Given the description of an element on the screen output the (x, y) to click on. 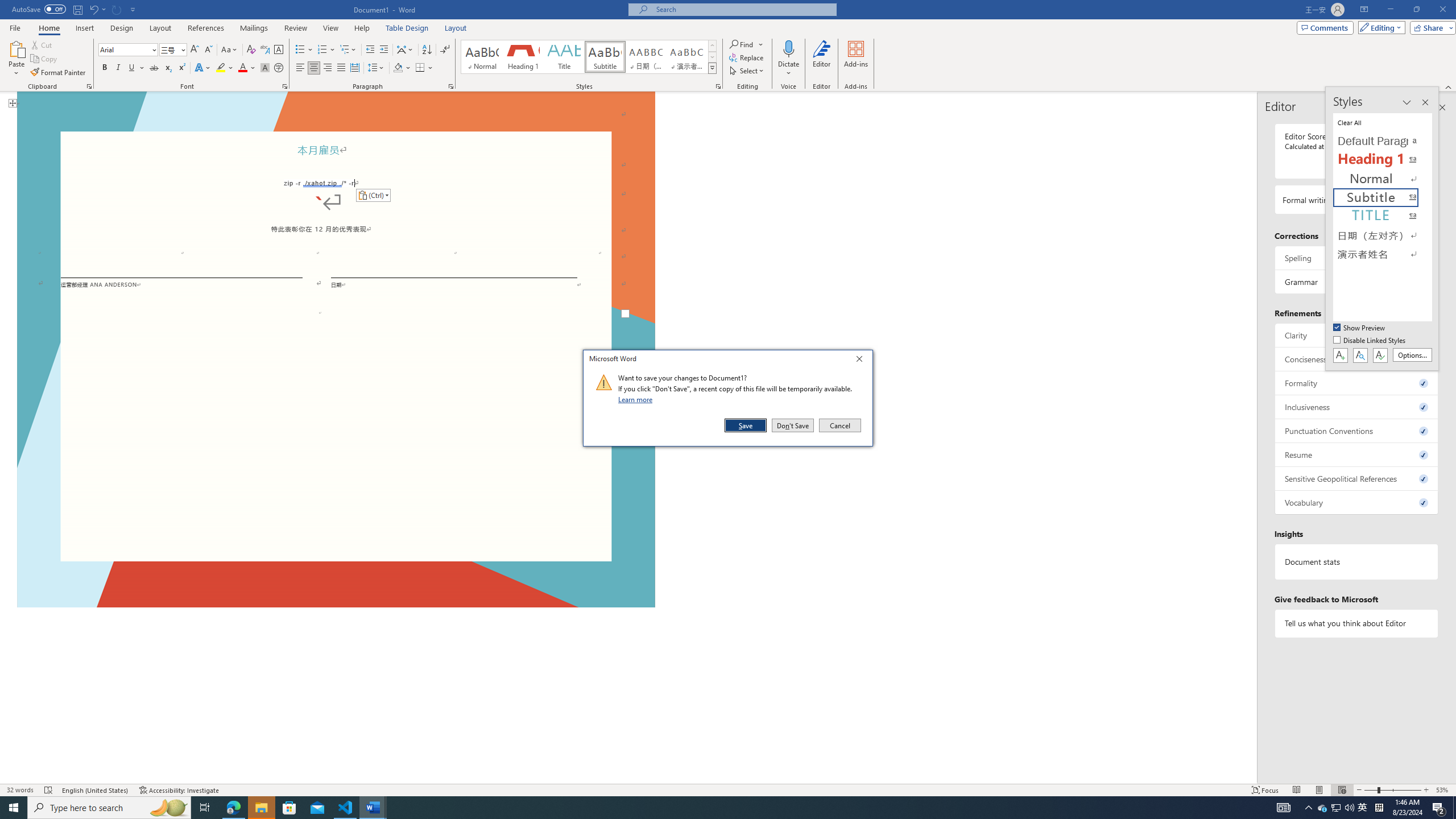
Zoom 53% (1443, 790)
Undo Paste (92, 9)
Normal (1382, 178)
Subtitle (605, 56)
